Given the description of an element on the screen output the (x, y) to click on. 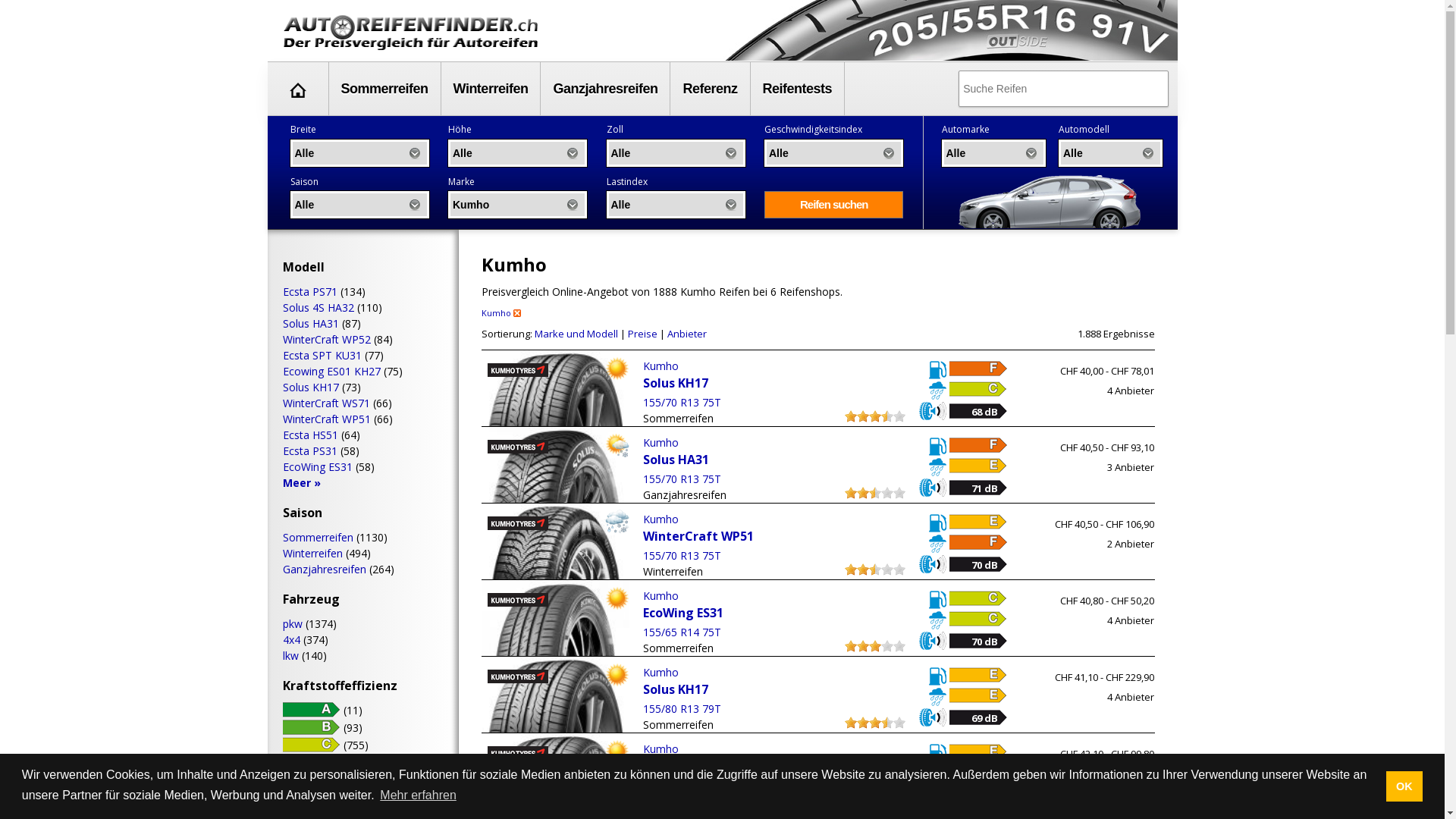
Autoreifenfinder Element type: hover (297, 89)
Ecsta SPT KU31 Element type: text (321, 355)
4x4 Element type: text (290, 639)
Kumho Element type: hover (516, 369)
Solus 4S HA32 Element type: text (317, 307)
Ecsta HS51 Element type: text (309, 434)
Kumho
Solus KH17
155/80 R13 79T Element type: text (774, 690)
Kumho EcoWing ES31 Element type: hover (554, 677)
zomerband Element type: hover (617, 598)
ster Element type: hover (850, 722)
ster Element type: hover (850, 646)
ster Element type: hover (850, 799)
halve ster Element type: hover (875, 569)
ster Element type: hover (862, 799)
geen ster Element type: hover (899, 799)
halve ster Element type: hover (887, 416)
halve ster Element type: hover (887, 722)
zomerband Element type: hover (617, 368)
halve ster Element type: hover (875, 492)
Sommerreifen Element type: text (317, 537)
Kumho Element type: text (500, 312)
Verwijder filter op merk Element type: hover (516, 313)
Reifentests Element type: text (797, 88)
Referenz Element type: text (709, 88)
Preise Element type: text (642, 333)
Kumho Element type: hover (516, 446)
Mehr erfahren Element type: text (417, 795)
ster Element type: hover (875, 722)
geen ster Element type: hover (899, 722)
pkw Element type: text (291, 623)
Ecowing ES01 KH27 Element type: text (330, 371)
zomerband Element type: hover (617, 751)
Autoreifenfinder Element type: hover (297, 88)
Kumho
Solus KH17
155/70 R13 75T Element type: text (774, 383)
Ecsta PS71 Element type: text (309, 291)
ster Element type: hover (862, 569)
ster Element type: hover (862, 646)
geen ster Element type: hover (899, 569)
ster Element type: hover (862, 492)
Ganzjahresreifen Element type: text (323, 568)
ster Element type: hover (862, 722)
ster Element type: hover (875, 799)
ster Element type: hover (875, 646)
Kumho
Solus KH17
135/80 R13 70T Element type: text (774, 766)
Kumho
Solus HA31
155/70 R13 75T Element type: text (774, 460)
vierseizoenenband Element type: hover (617, 445)
geen ster Element type: hover (899, 416)
Ecsta PS31 Element type: text (309, 450)
ster Element type: hover (850, 492)
Autoreifenfinder Element type: hover (410, 32)
Sommerreifen Element type: text (385, 88)
geen ster Element type: hover (887, 492)
ster Element type: hover (862, 416)
geen ster Element type: hover (887, 569)
Kumho
EcoWing ES31
155/65 R14 75T Element type: text (774, 613)
zomerband Element type: hover (617, 674)
Kumho Element type: hover (516, 599)
ster Element type: hover (850, 569)
halve ster Element type: hover (887, 799)
EcoWing ES31 Element type: text (316, 466)
Reifen suchen Element type: text (833, 204)
WinterCraft WP51 Element type: text (326, 418)
geen ster Element type: hover (899, 492)
ster Element type: hover (875, 416)
Winterreifen Element type: text (491, 88)
WinterCraft WS71 Element type: text (325, 402)
Solus HA31 Element type: text (310, 323)
winterband Element type: hover (617, 521)
Anbieter Element type: text (686, 333)
Ganzjahresreifen Element type: text (605, 88)
Kumho Solus KH17 Element type: hover (554, 460)
Winterreifen Element type: text (312, 553)
OK Element type: text (1404, 786)
geen ster Element type: hover (887, 646)
Kumho Element type: hover (516, 676)
Kumho Element type: hover (516, 523)
Marke und Modell Element type: text (575, 333)
Kumho
WinterCraft WP51
155/70 R13 75T Element type: text (774, 537)
Kumho WinterCraft WP51 Element type: hover (554, 608)
WinterCraft WP52 Element type: text (326, 339)
lkw Element type: text (290, 655)
ster Element type: hover (850, 416)
Kumho Solus HA31 Element type: hover (554, 536)
Kumho Element type: hover (516, 752)
Solus KH17 Element type: text (310, 386)
geen ster Element type: hover (899, 646)
